Given the description of an element on the screen output the (x, y) to click on. 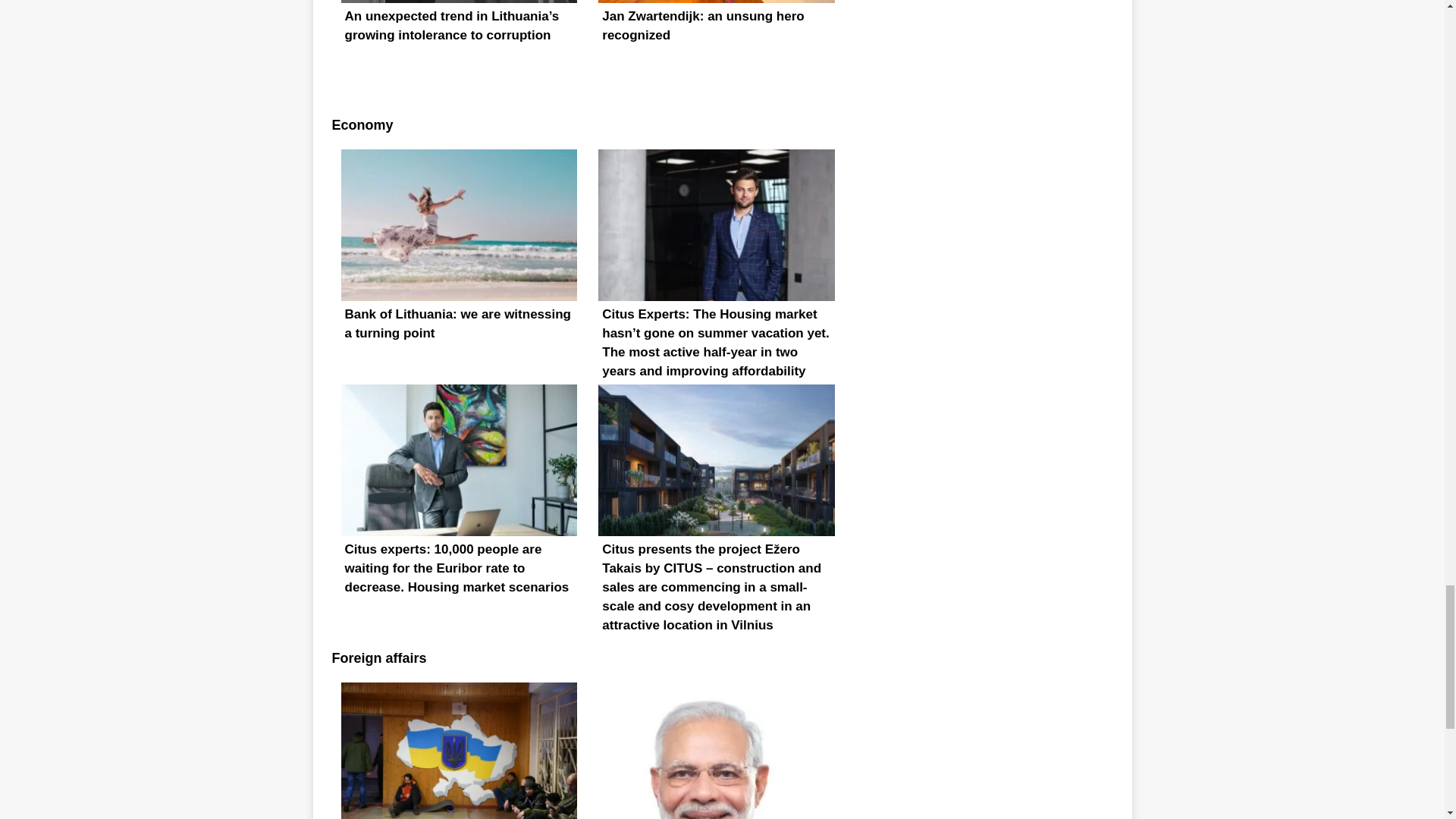
Jan Zwartendijk: an unsung hero recognized (716, 43)
